Given the description of an element on the screen output the (x, y) to click on. 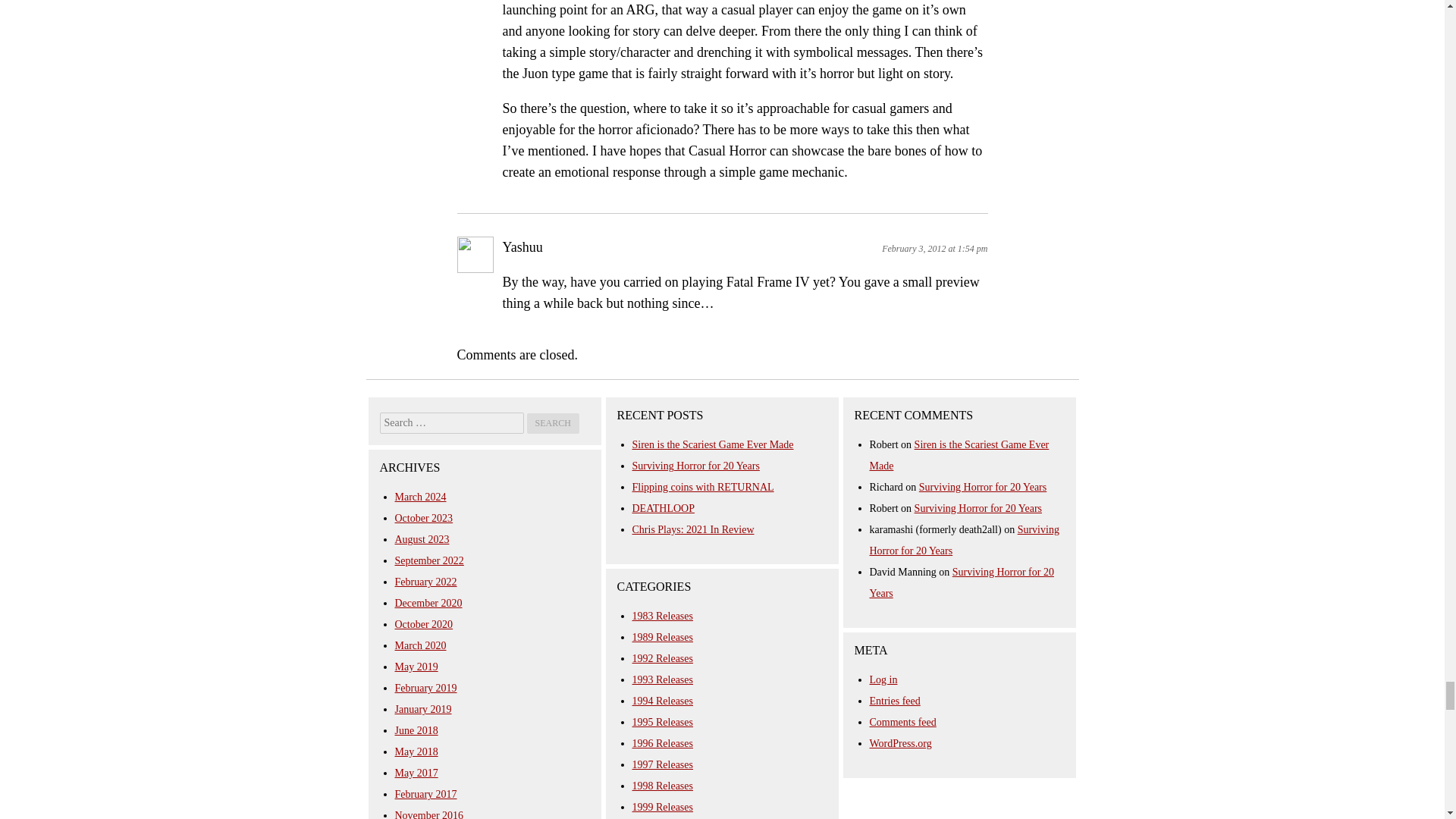
Search (551, 423)
